Given the description of an element on the screen output the (x, y) to click on. 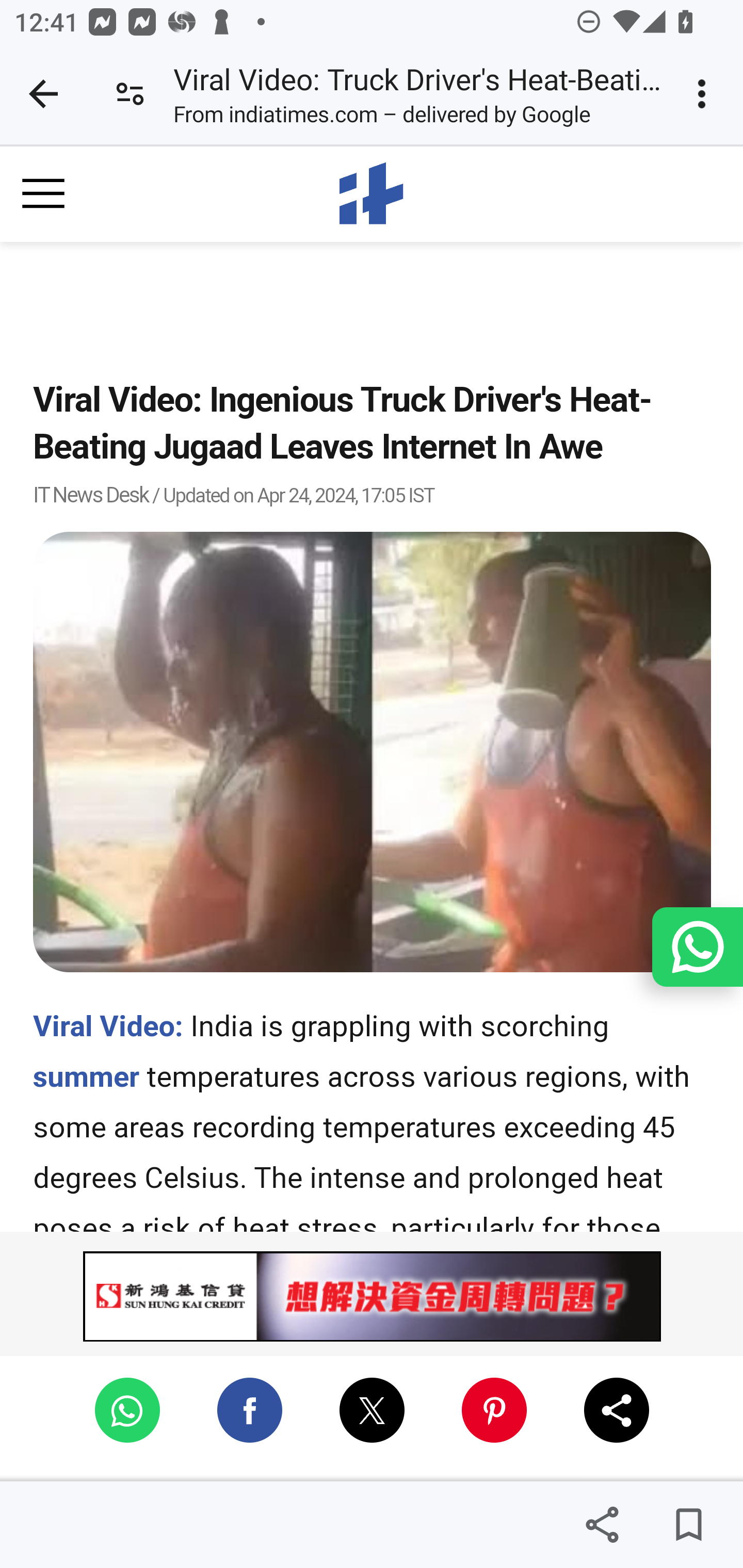
Close tab (43, 93)
Customize and control Google Chrome (705, 93)
Connection is secure (129, 93)
From indiatimes.com – delivered by Google (381, 117)
Menu (44, 192)
indiatimes (372, 192)
IT News Desk (90, 494)
Whatsapp (696, 946)
Viral Video: (108, 1025)
 summer   summer (86, 1076)
Share on WhatsApp (126, 1410)
Share on Facebook (249, 1410)
Share on Twitter (372, 1410)
Share on Pinterest (493, 1410)
Share by system (616, 1410)
Share (601, 1524)
Save for later (688, 1524)
